Given the description of an element on the screen output the (x, y) to click on. 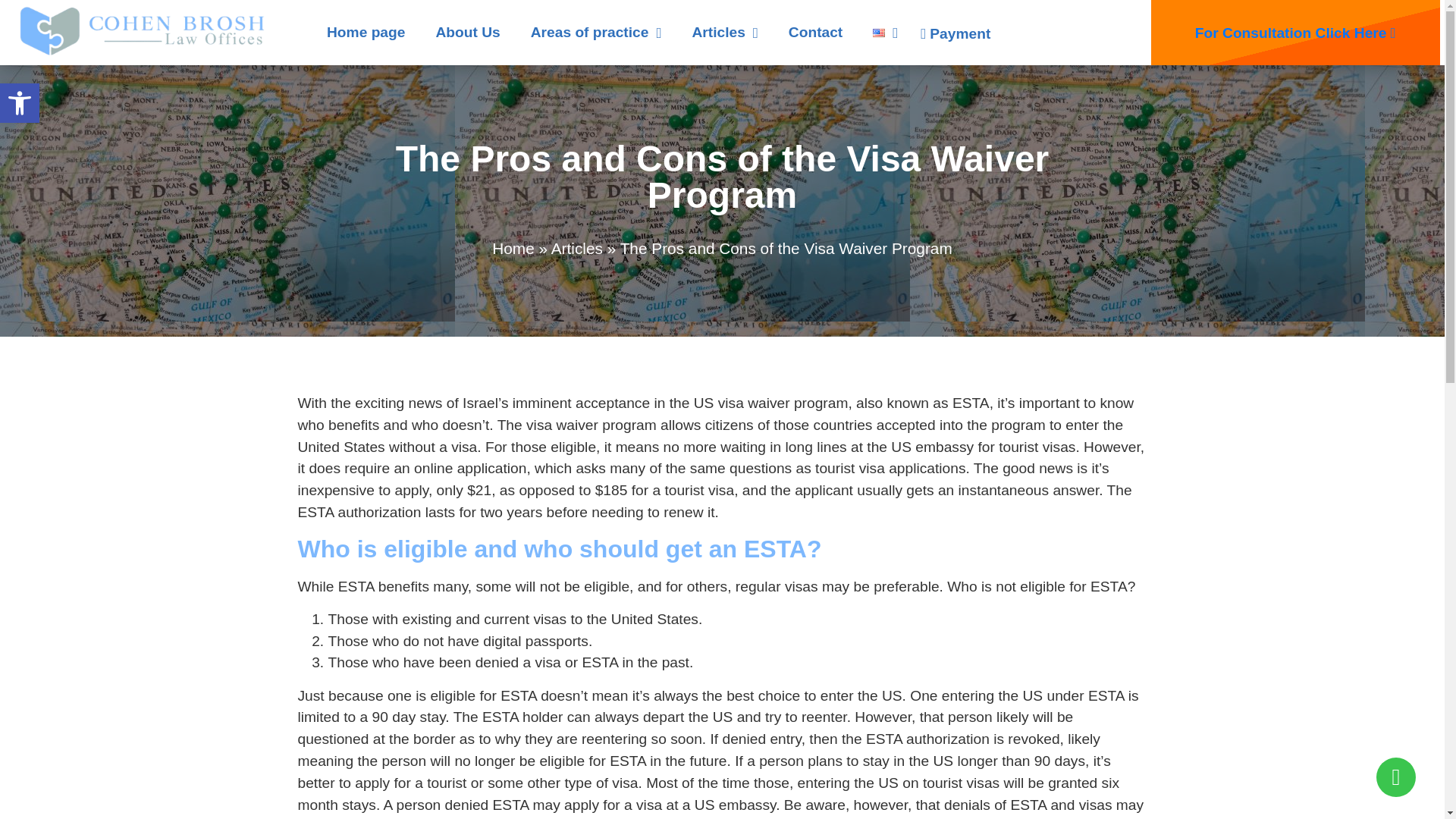
Home page (365, 32)
Accessibility Tools (19, 102)
About Us (467, 32)
Areas of practice (19, 102)
Accessibility Tools (596, 32)
